Given the description of an element on the screen output the (x, y) to click on. 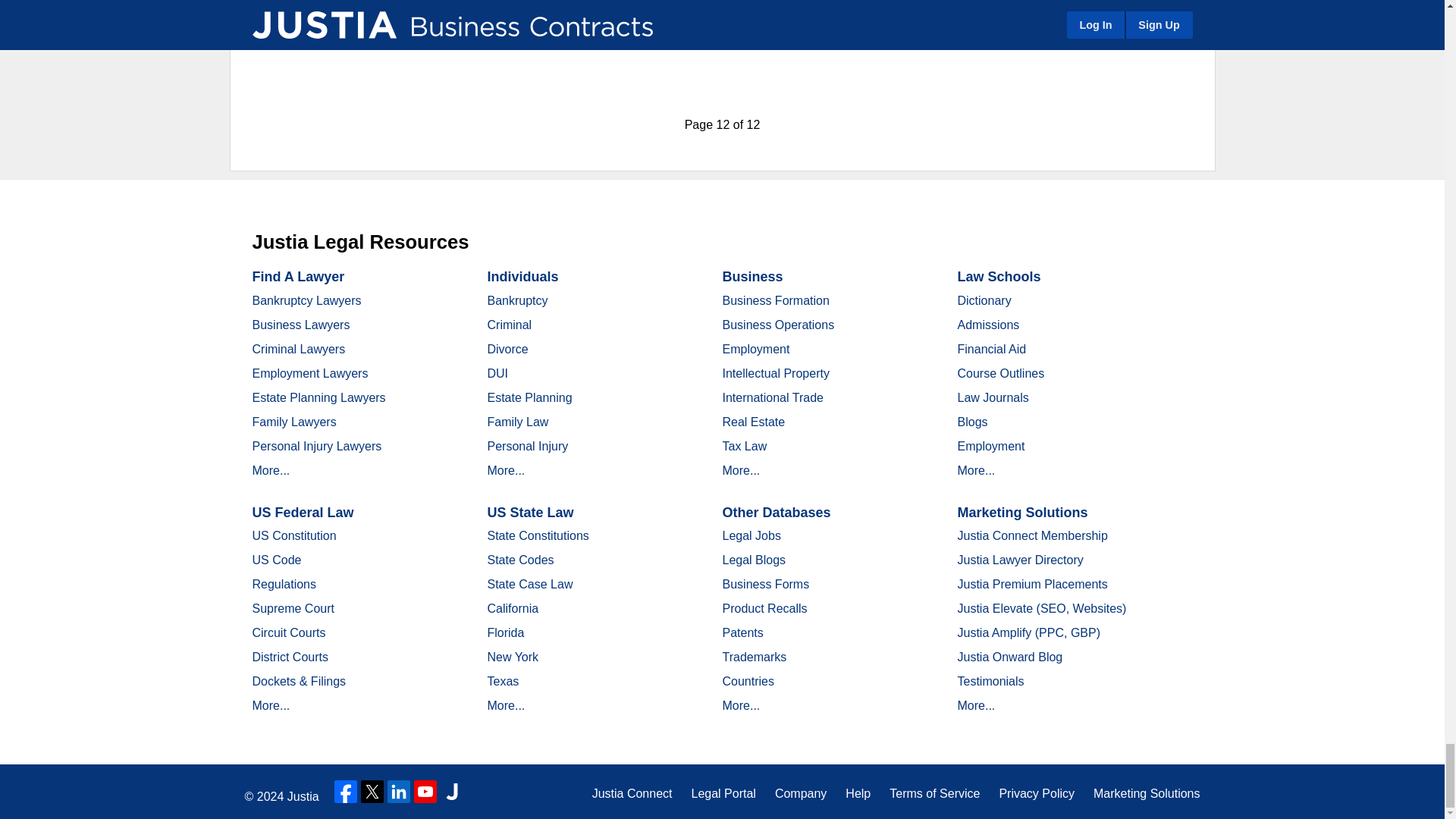
Employment Lawyers (309, 373)
Bankruptcy (516, 300)
Find A Lawyer (297, 276)
Personal Injury Lawyers (316, 445)
More... (270, 470)
Criminal Lawyers (298, 349)
Justia Lawyer Directory (452, 791)
Family Lawyers (293, 421)
Estate Planning Lawyers (318, 397)
Bankruptcy Lawyers (306, 300)
Twitter (372, 791)
Individuals (521, 276)
LinkedIn (398, 791)
YouTube (424, 791)
Facebook (345, 791)
